Given the description of an element on the screen output the (x, y) to click on. 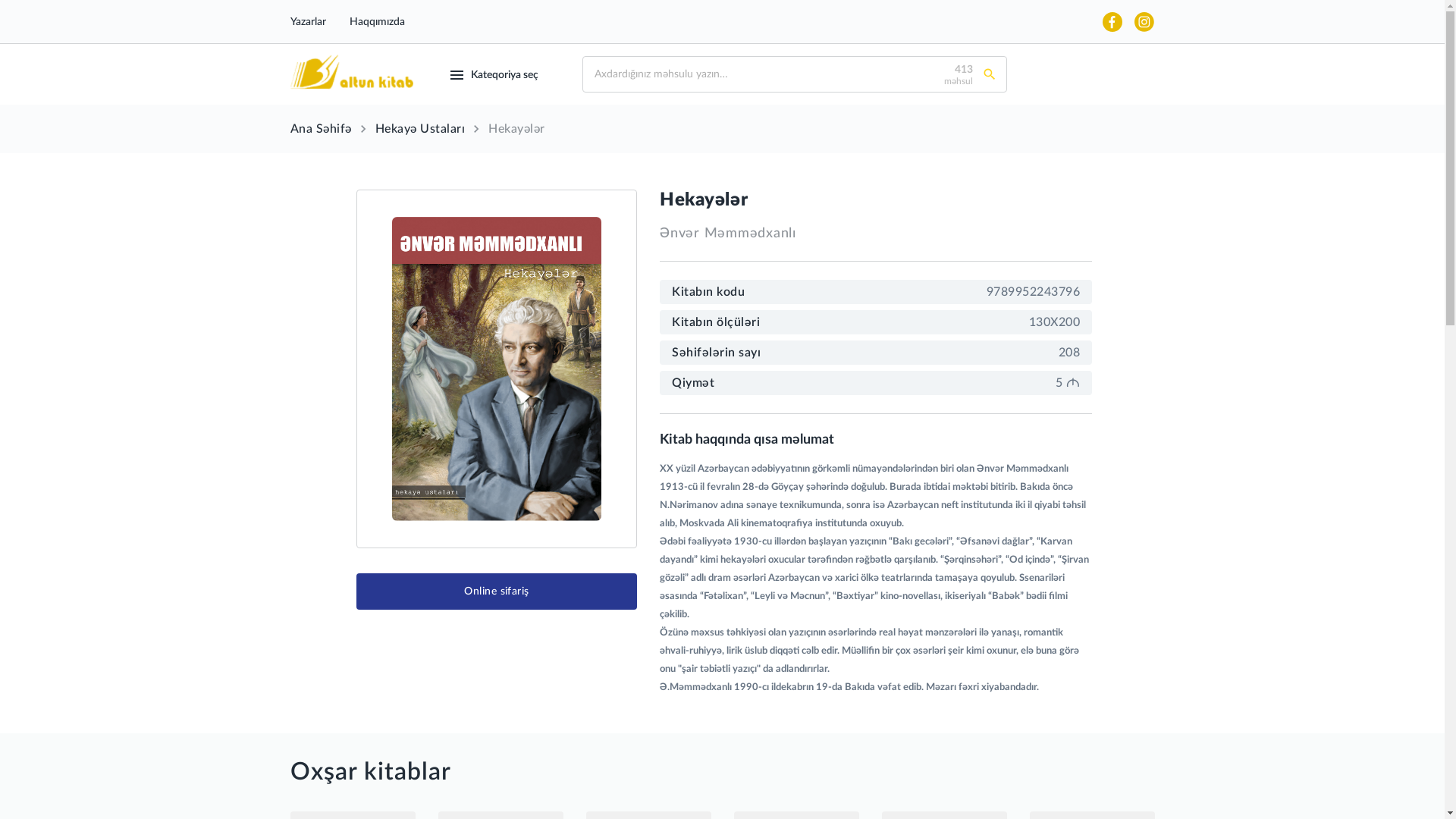
Yazarlar Element type: text (307, 21)
